Given the description of an element on the screen output the (x, y) to click on. 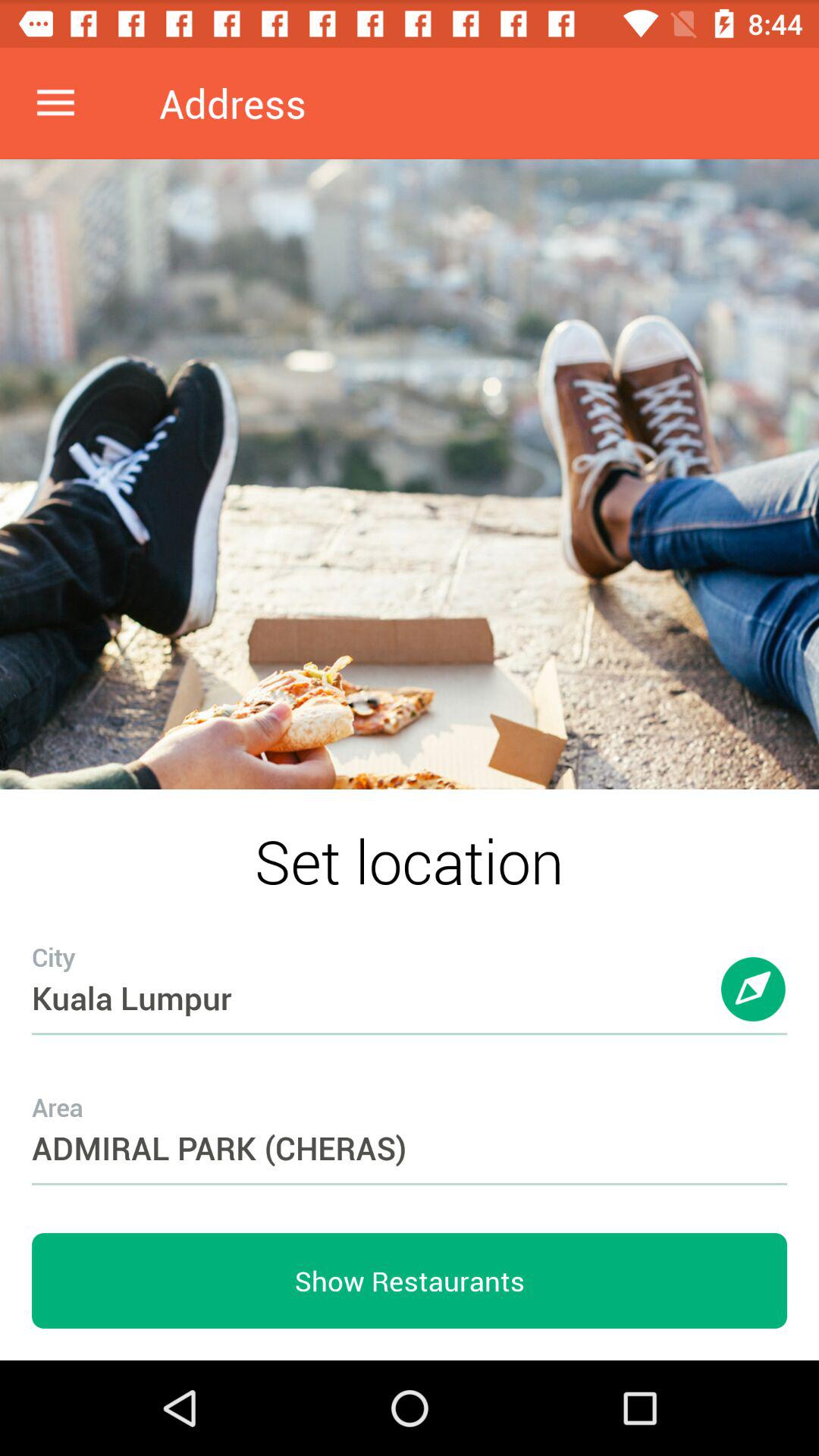
select icon to the left of address (55, 103)
